Given the description of an element on the screen output the (x, y) to click on. 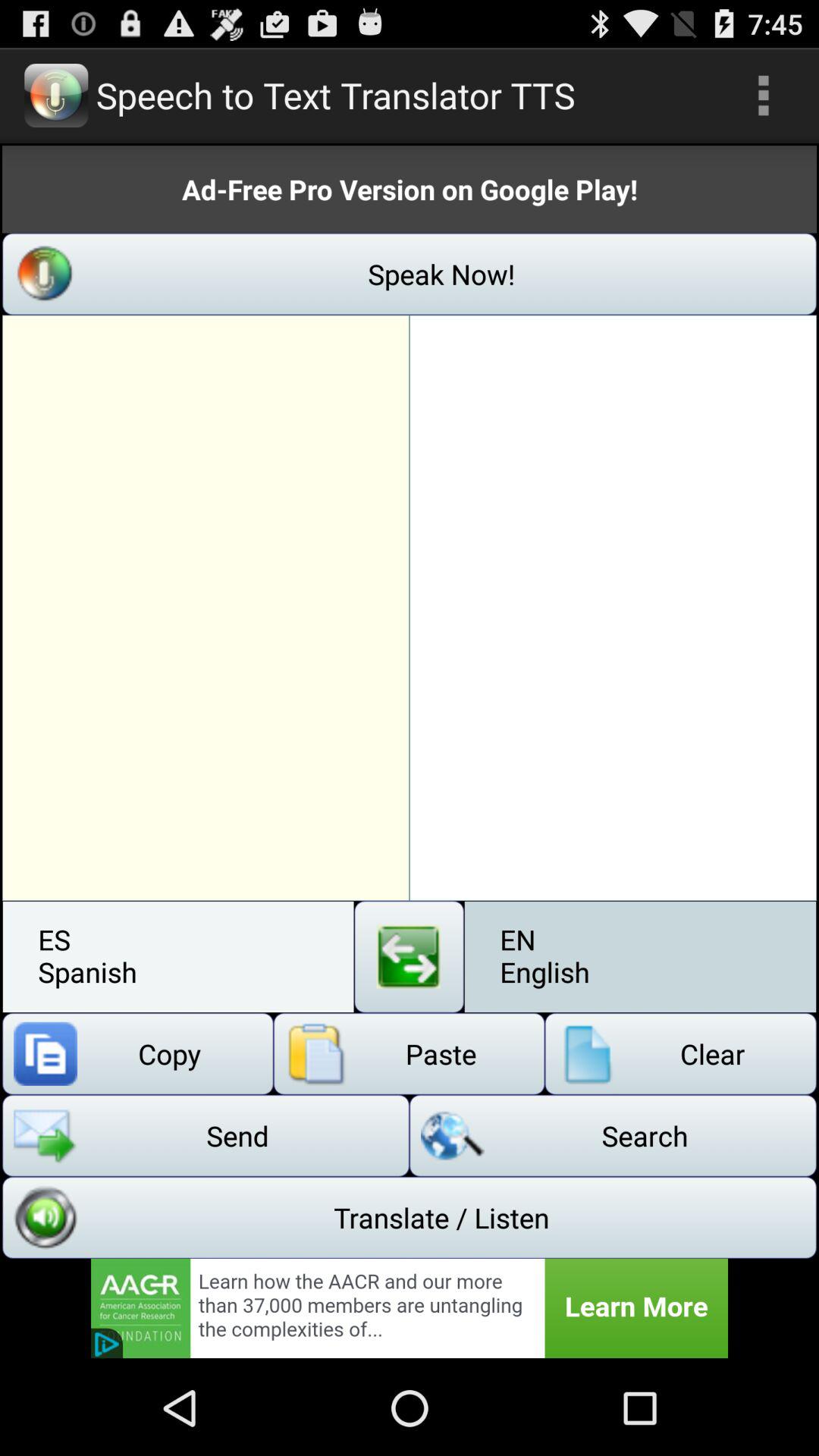
advertisement banner (409, 1308)
